Given the description of an element on the screen output the (x, y) to click on. 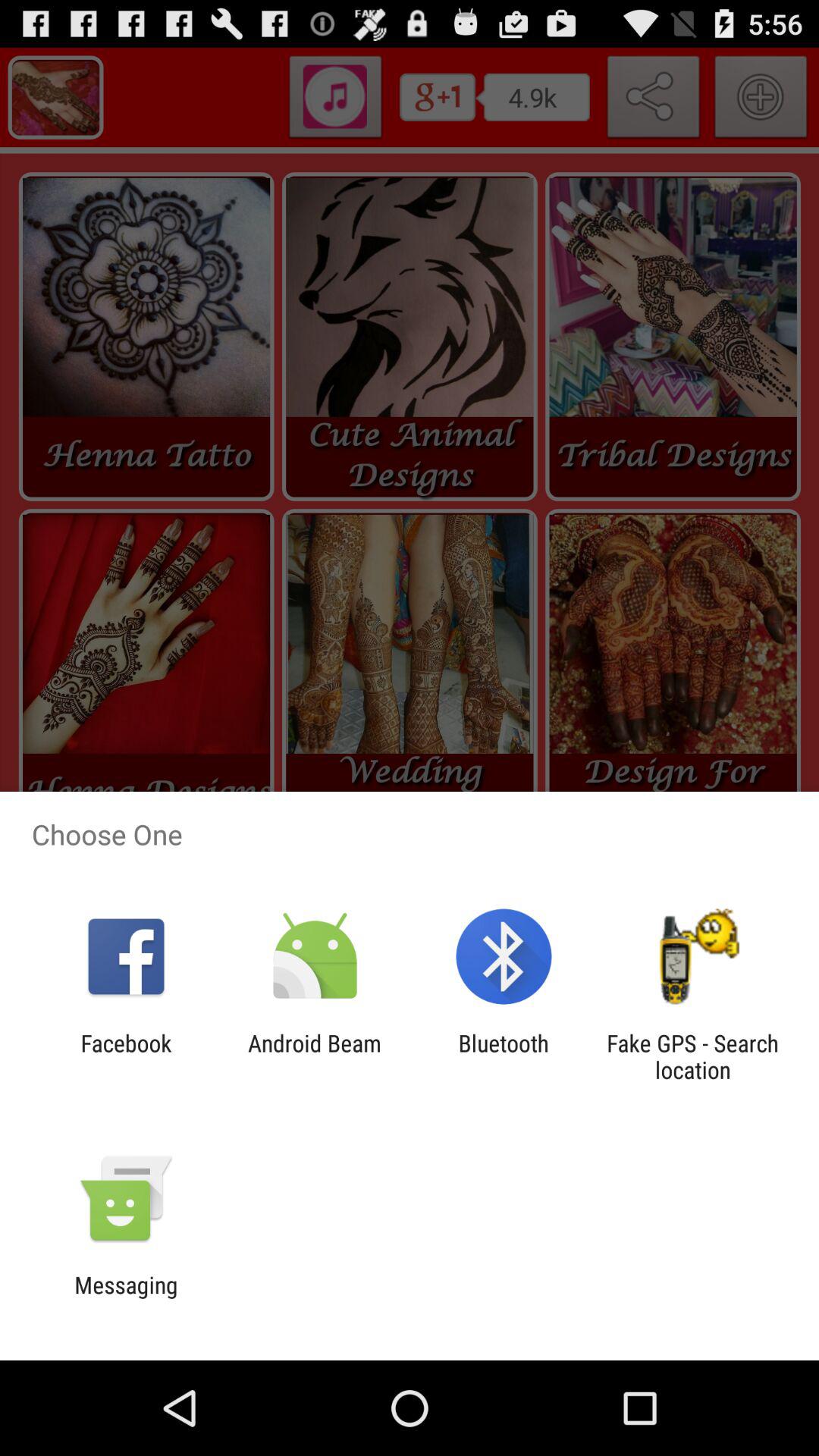
select the app to the right of bluetooth icon (692, 1056)
